Given the description of an element on the screen output the (x, y) to click on. 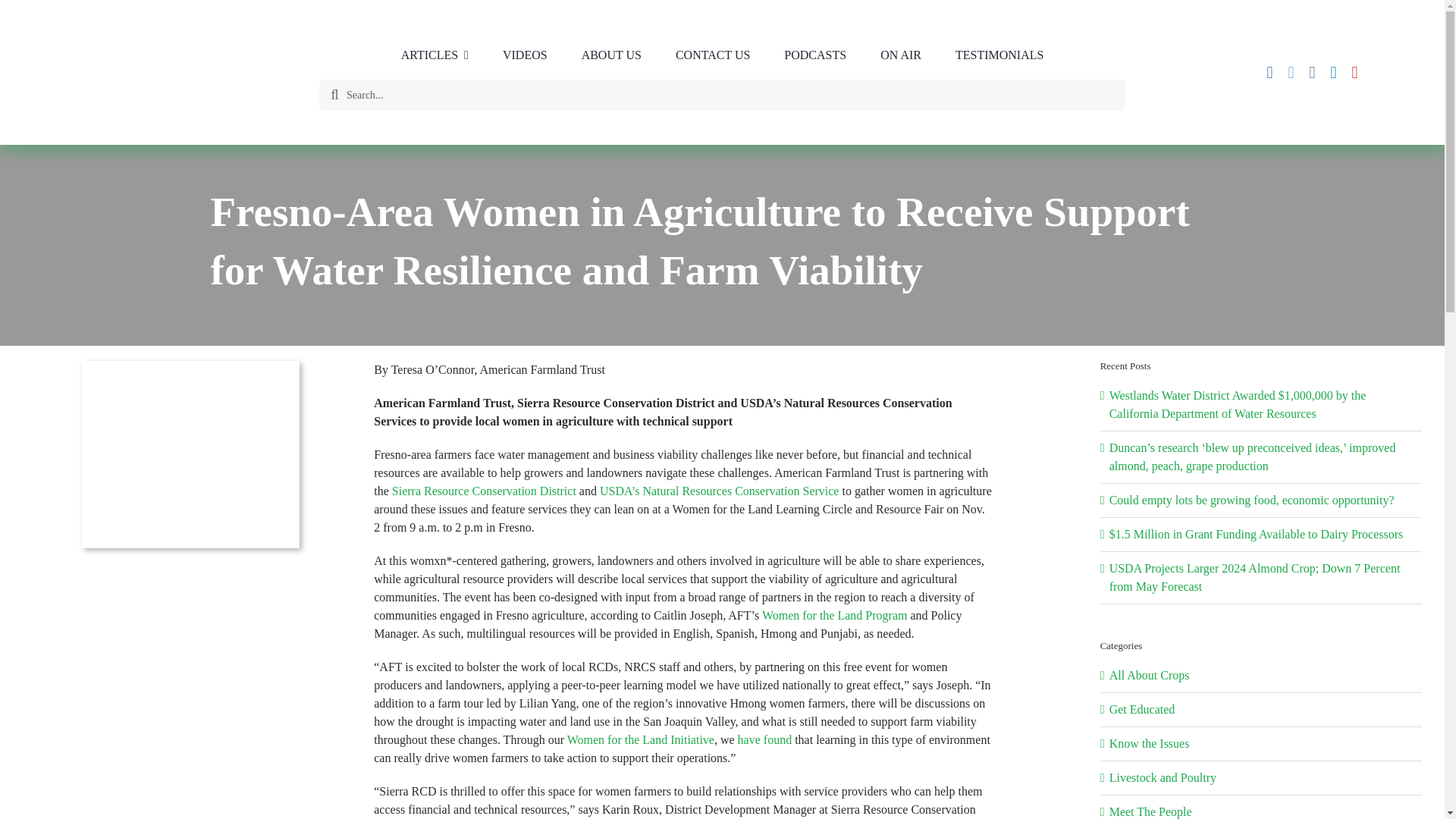
VIDEOS (524, 54)
TESTIMONIALS (999, 54)
ON AIR (900, 54)
americanfarmlandtrust (190, 454)
ARTICLES (434, 54)
Sierra Resource Conservation District (483, 490)
CONTACT US (713, 54)
ABOUT US (611, 54)
PODCASTS (814, 54)
